Given the description of an element on the screen output the (x, y) to click on. 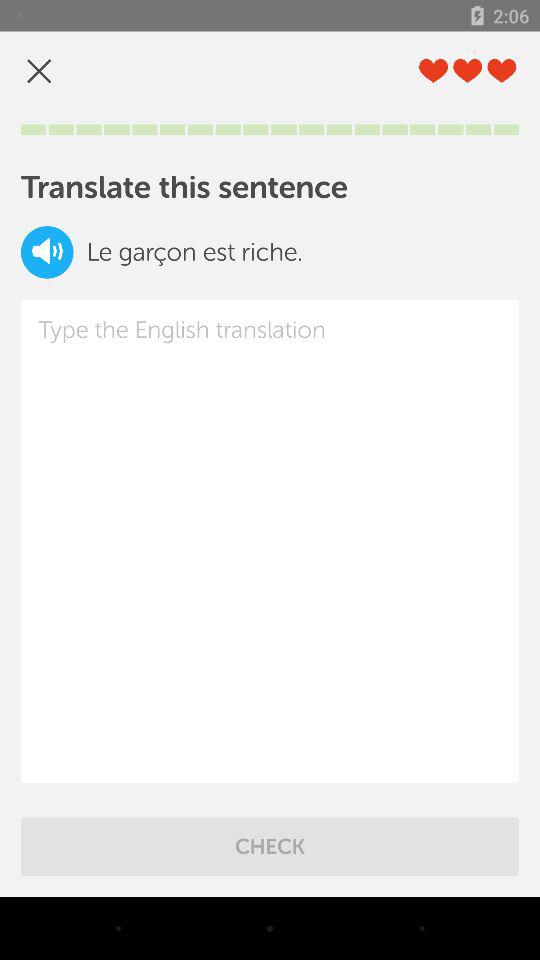
open item to the left of the le (47, 252)
